Given the description of an element on the screen output the (x, y) to click on. 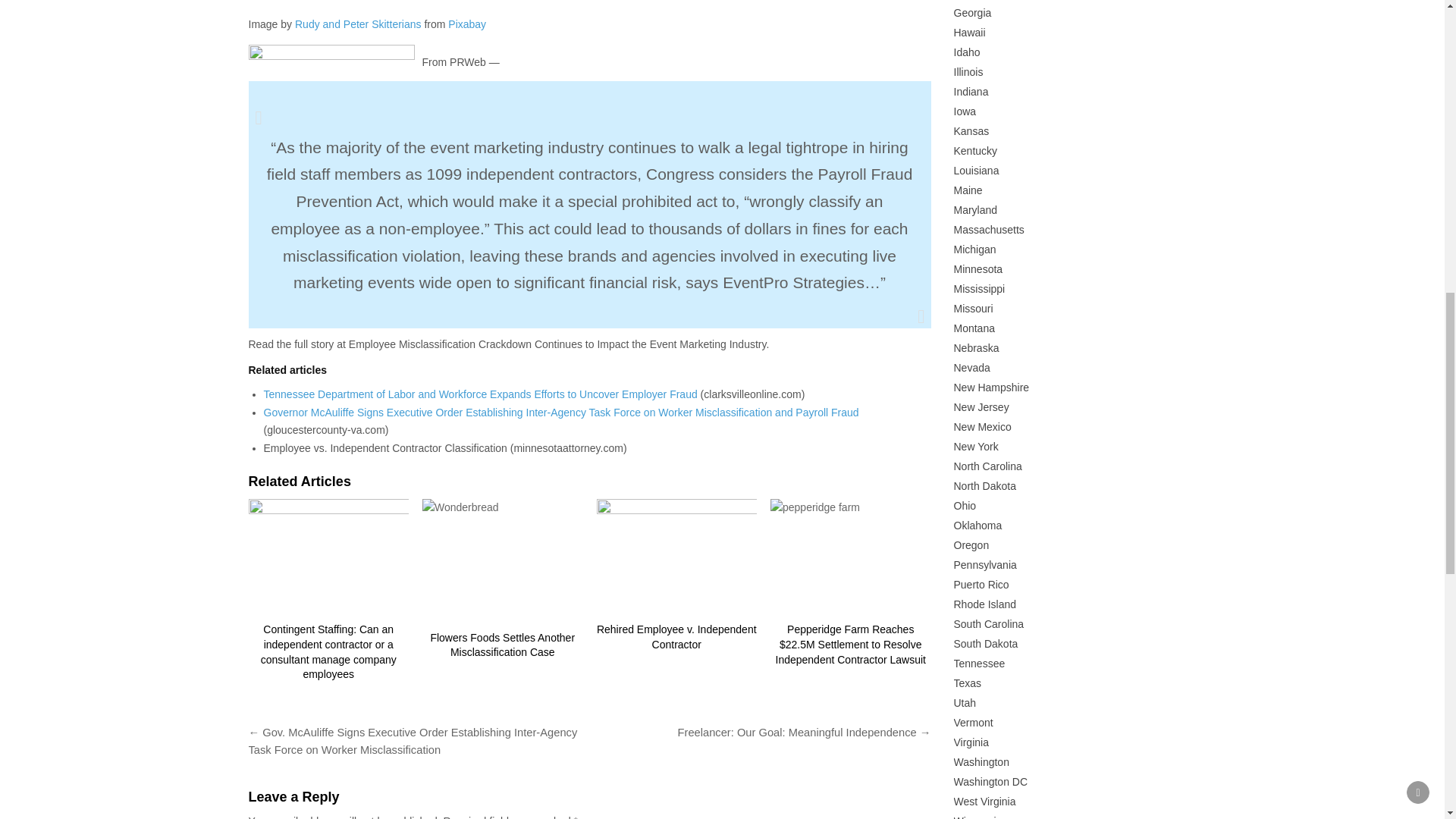
Permanent Link to Rehired Employee v. Independent Contractor (676, 636)
Hawaii (969, 32)
Pixabay (467, 24)
Idaho (966, 51)
